Given the description of an element on the screen output the (x, y) to click on. 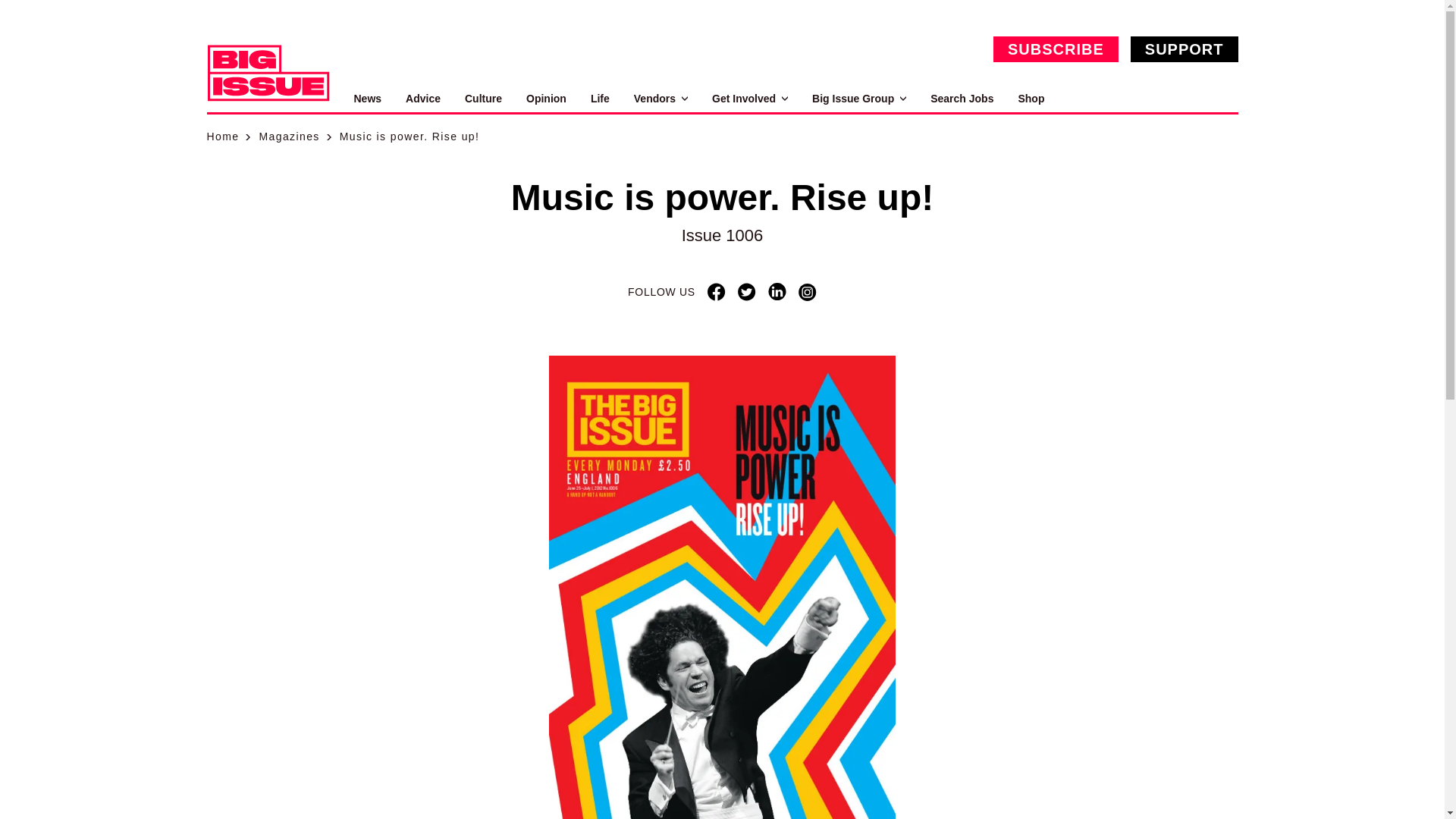
Opinion (545, 98)
Search (1220, 98)
Subscribe (1055, 49)
Search Jobs (961, 98)
Get Involved (749, 98)
SUPPORT (1185, 49)
SEARCH (1220, 98)
Support (1185, 49)
Advice (423, 98)
Home (222, 136)
